Given the description of an element on the screen output the (x, y) to click on. 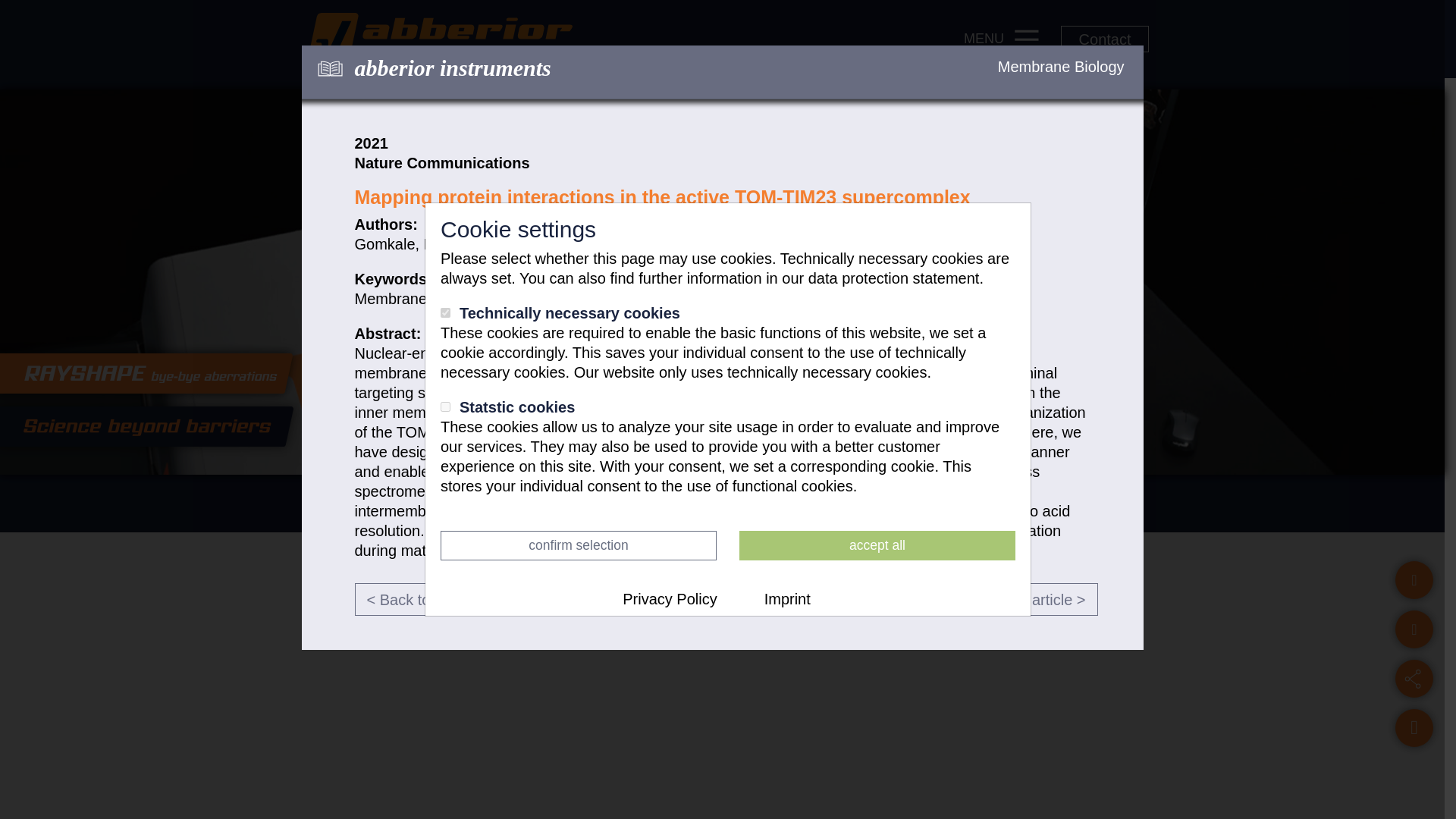
on (445, 406)
on (445, 312)
